Given the description of an element on the screen output the (x, y) to click on. 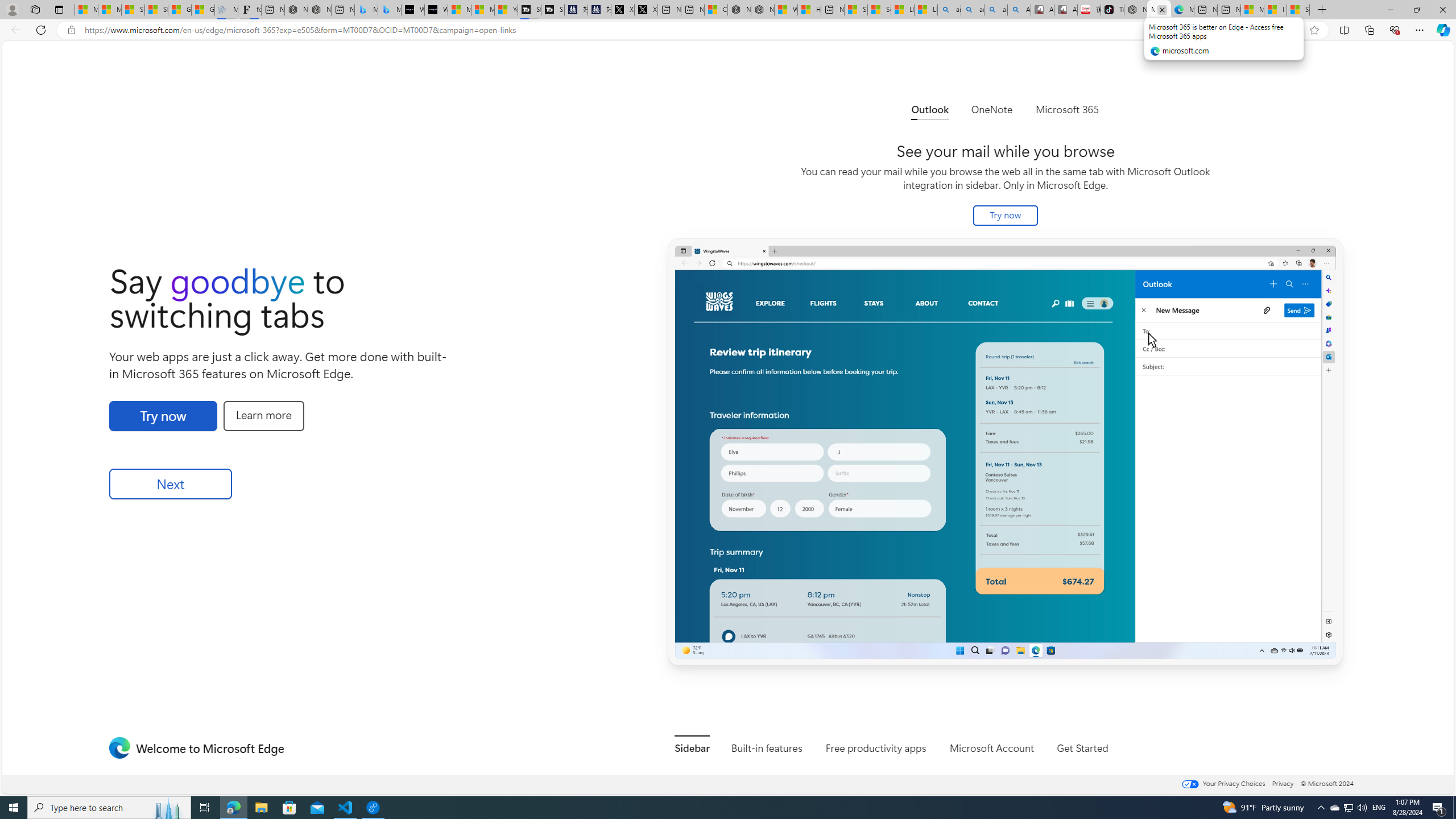
I Gained 20 Pounds of Muscle in 30 Days! | Watch (1275, 9)
TikTok (1112, 9)
